Given the description of an element on the screen output the (x, y) to click on. 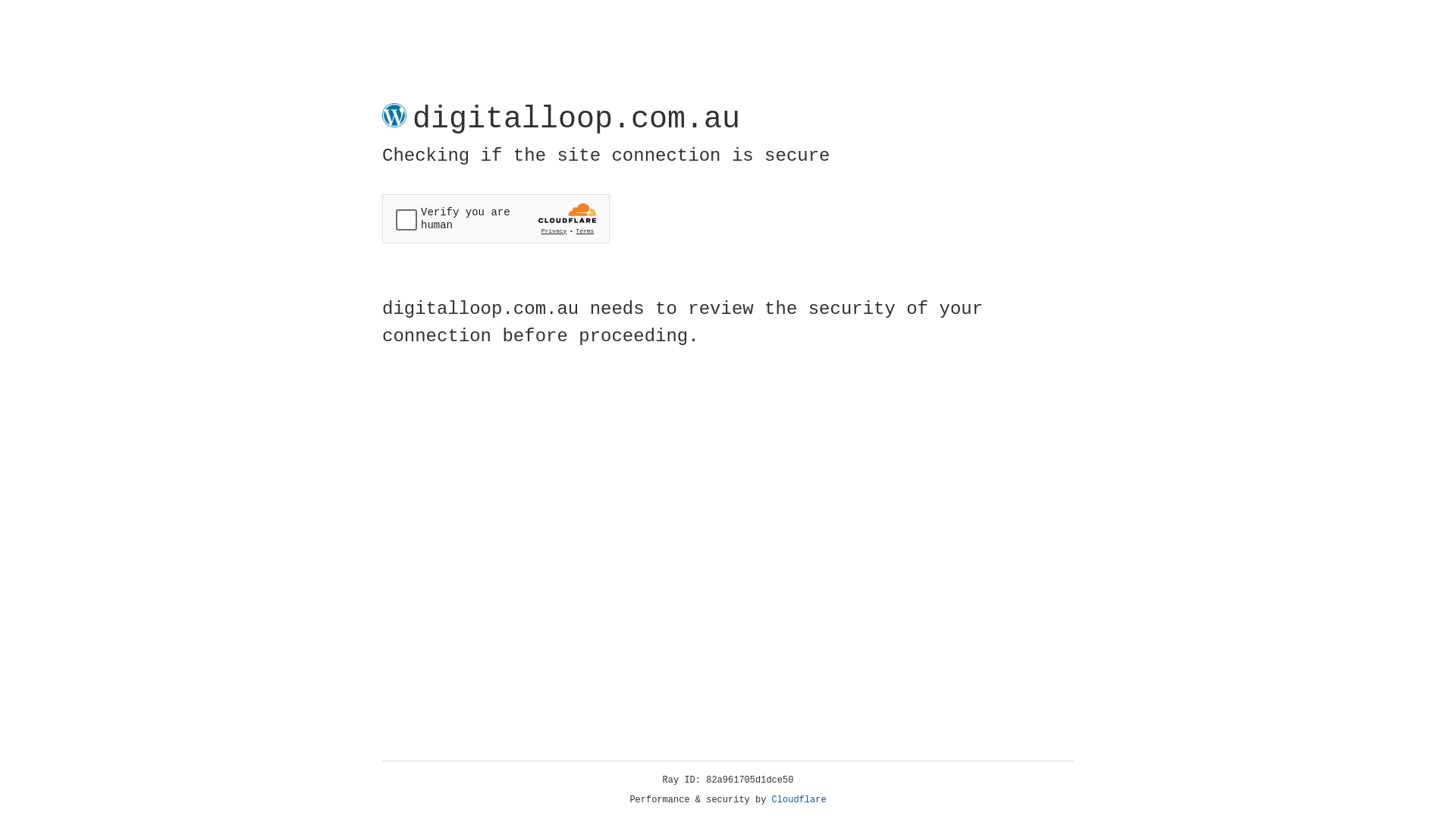
Widget containing a Cloudflare security challenge Element type: hover (495, 218)
Cloudflare Element type: text (798, 799)
